Given the description of an element on the screen output the (x, y) to click on. 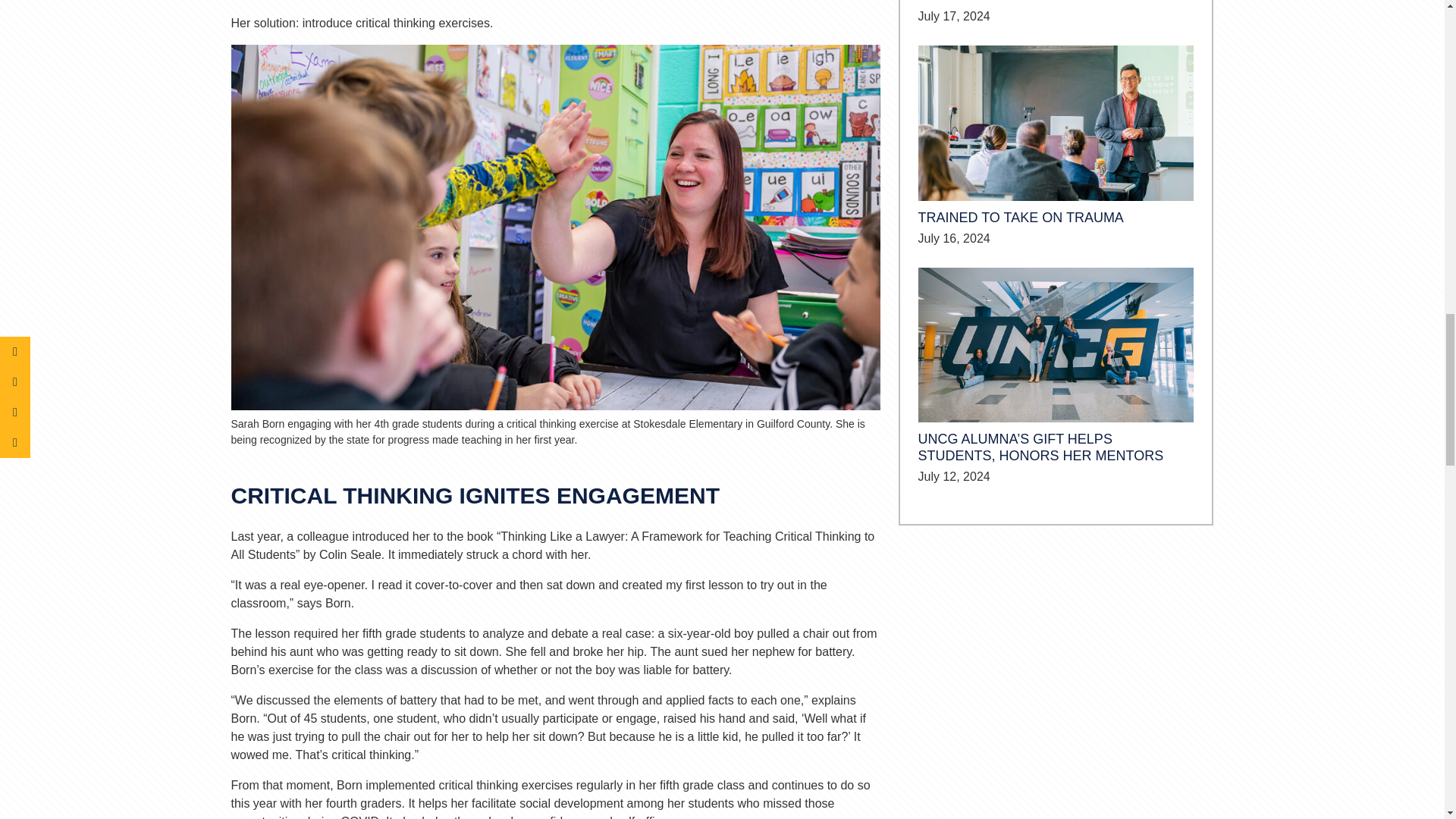
Trained to Take On Trauma (1055, 122)
